Given the description of an element on the screen output the (x, y) to click on. 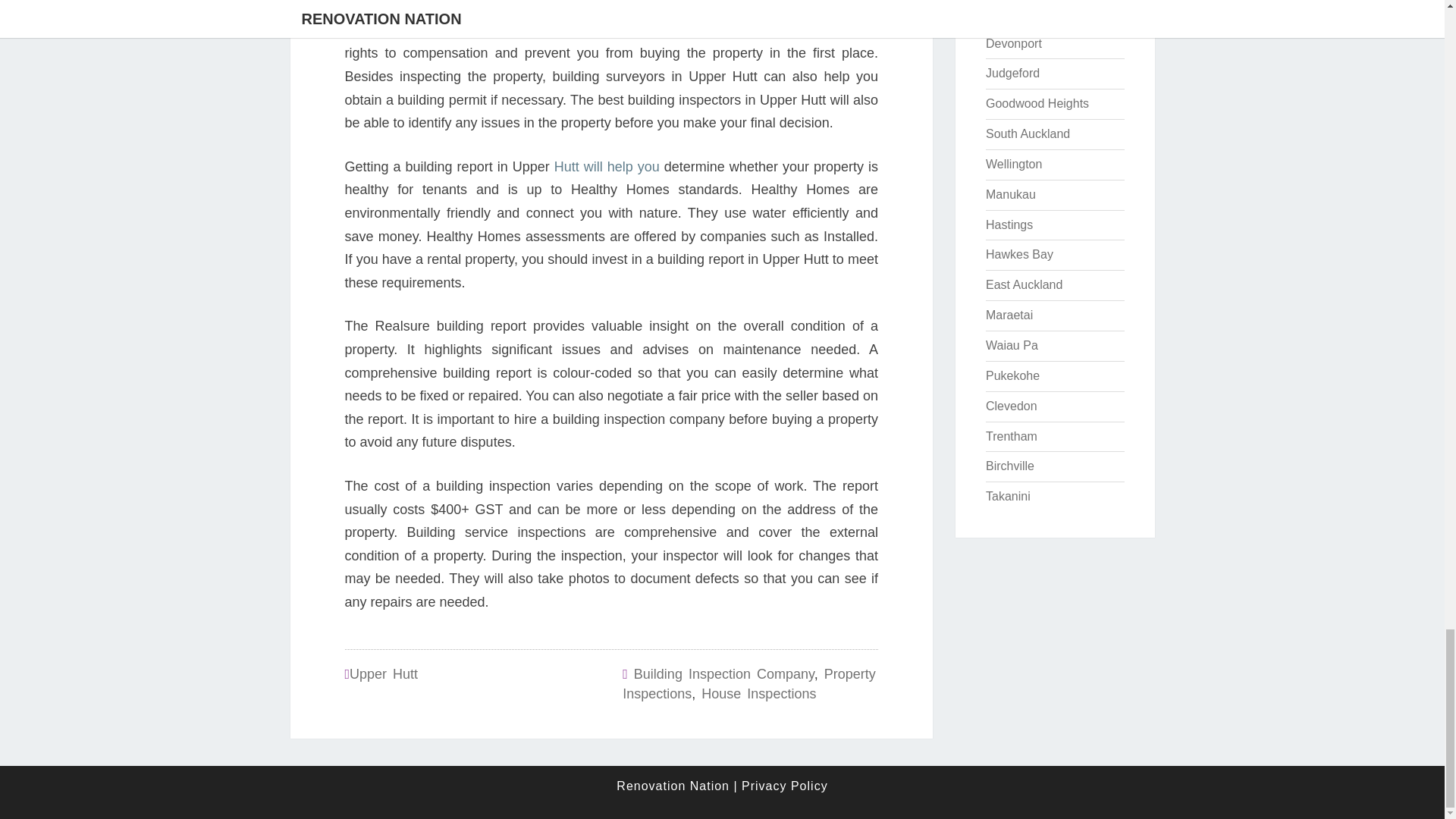
Property Inspections (749, 683)
Upper Hutt (383, 673)
Building Inspection Company (723, 673)
Hutt will help you (606, 166)
House Inspections (758, 693)
